Given the description of an element on the screen output the (x, y) to click on. 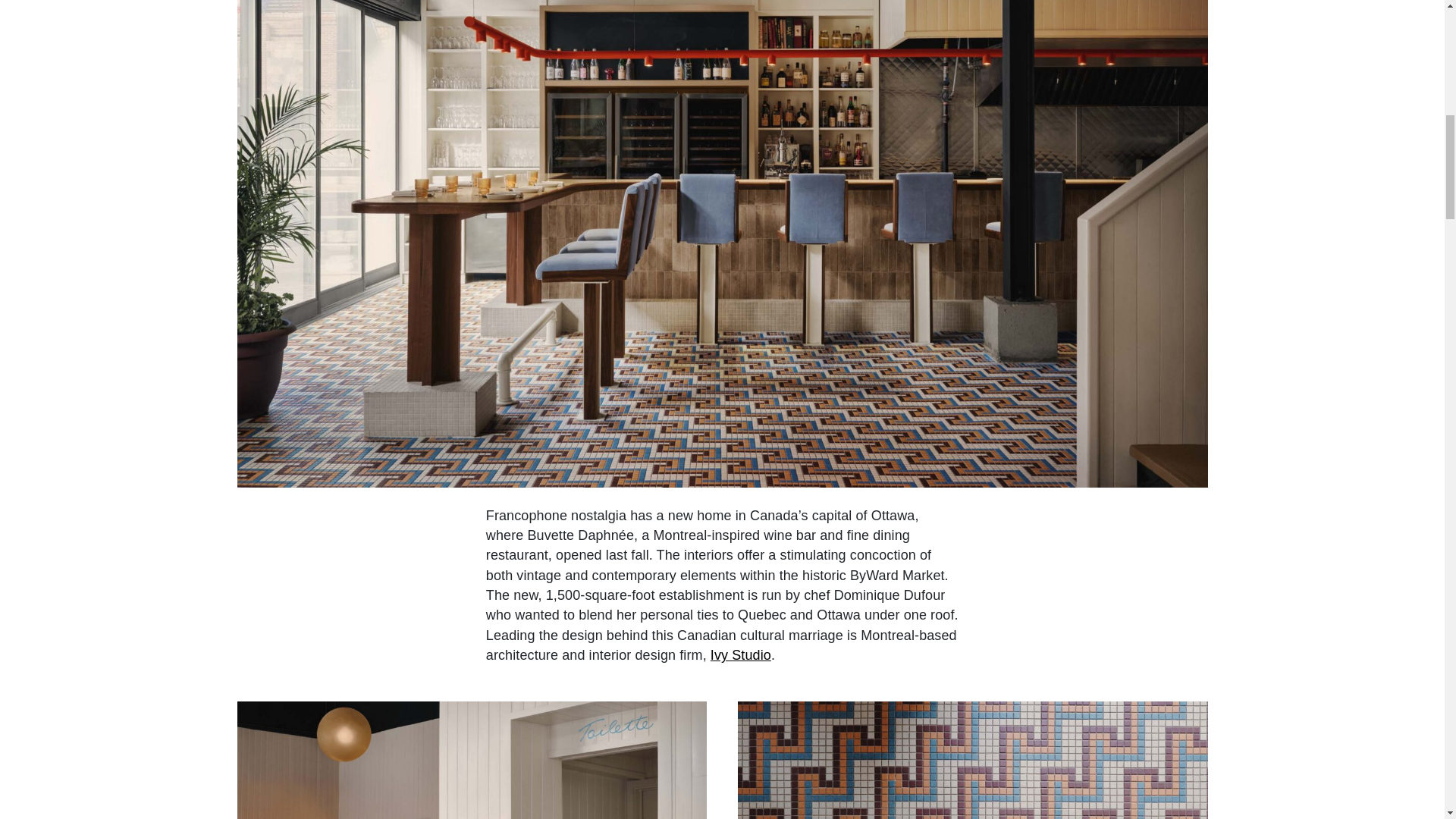
Ivy Studio (740, 654)
